Given the description of an element on the screen output the (x, y) to click on. 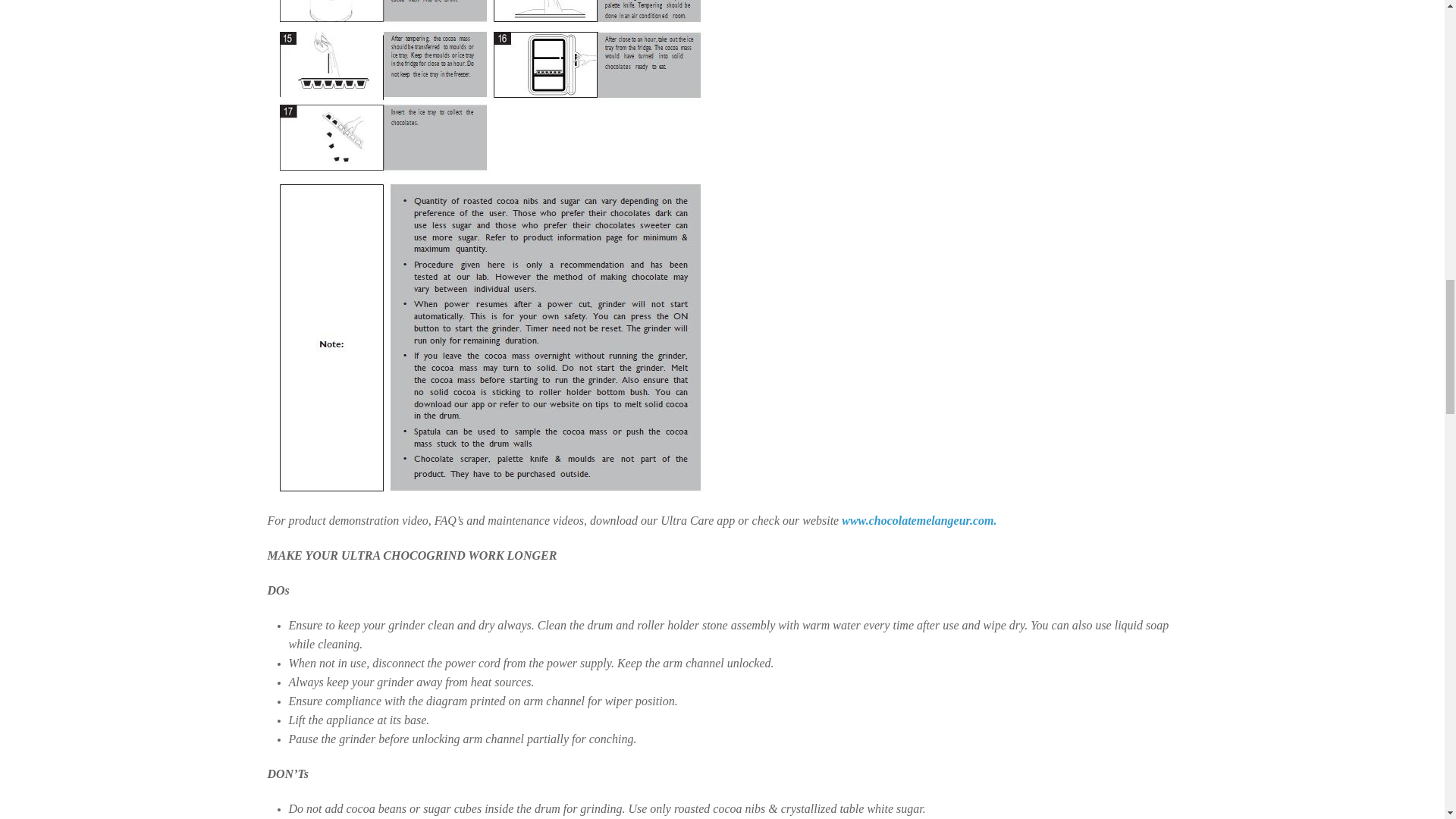
ultra melanger (916, 520)
